Given the description of an element on the screen output the (x, y) to click on. 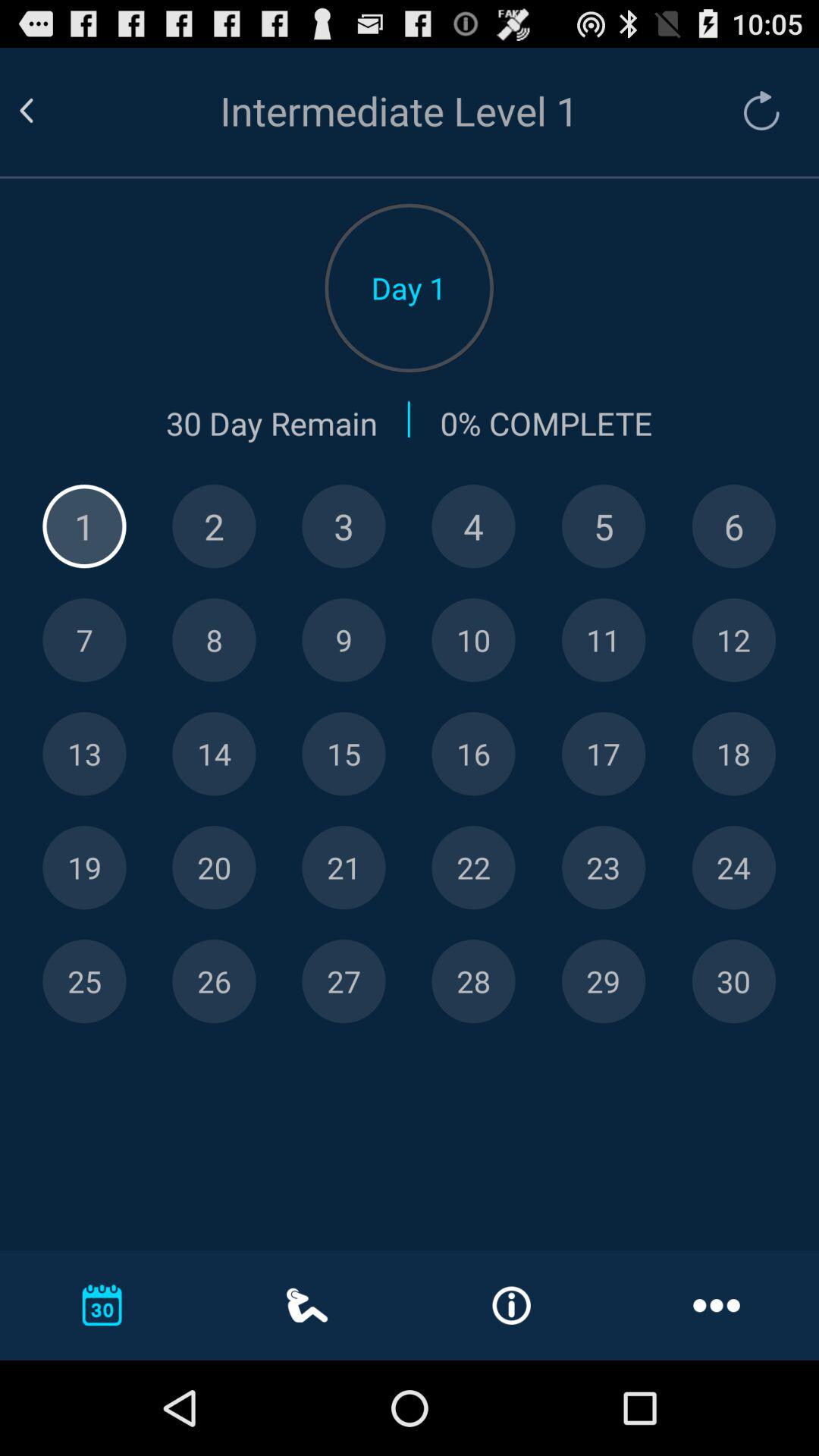
thirteen number (84, 753)
